Given the description of an element on the screen output the (x, y) to click on. 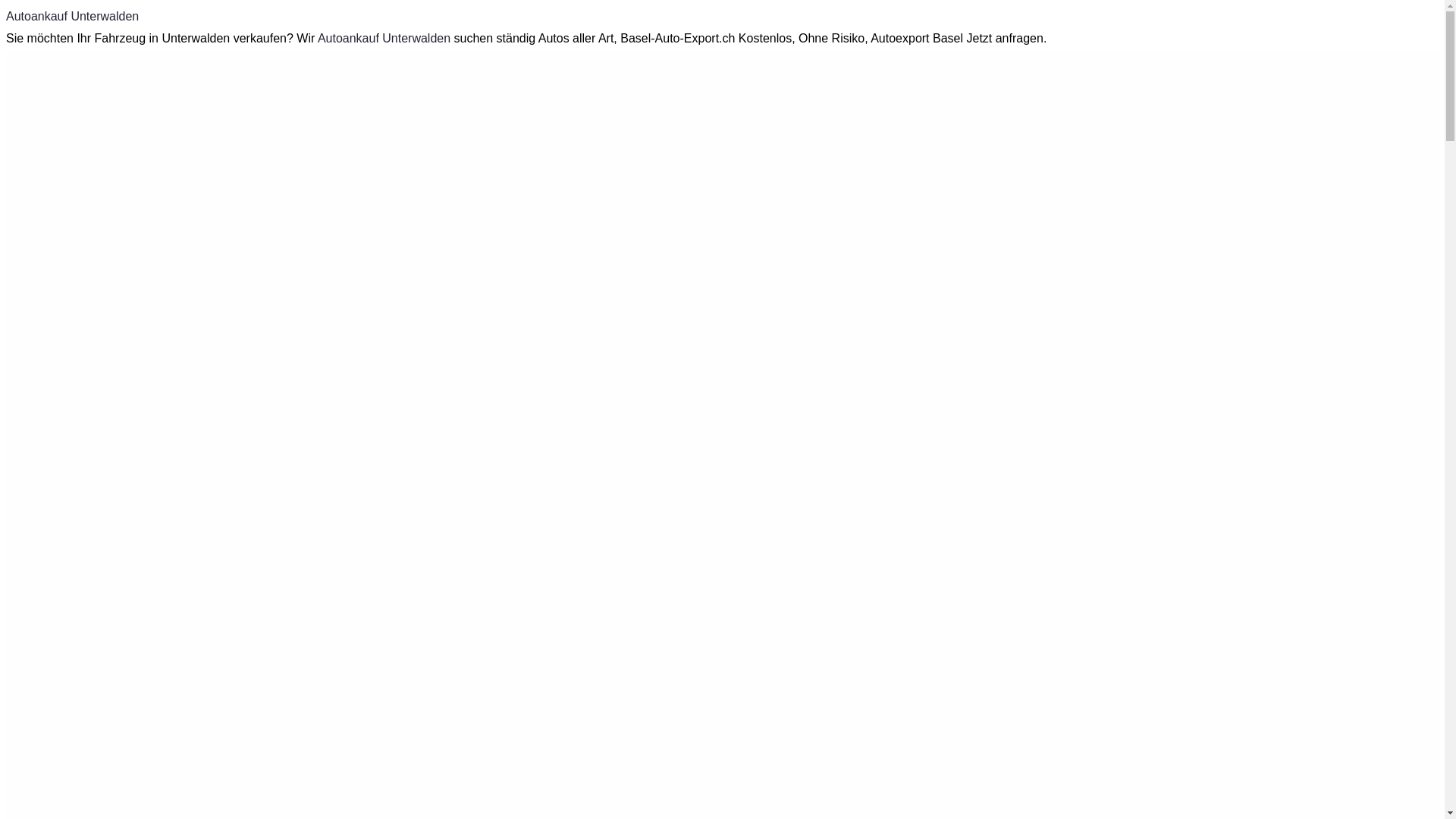
Autoankauf Unterwalden Element type: text (383, 37)
Autoankauf Unterwalden Element type: text (72, 15)
